Given the description of an element on the screen output the (x, y) to click on. 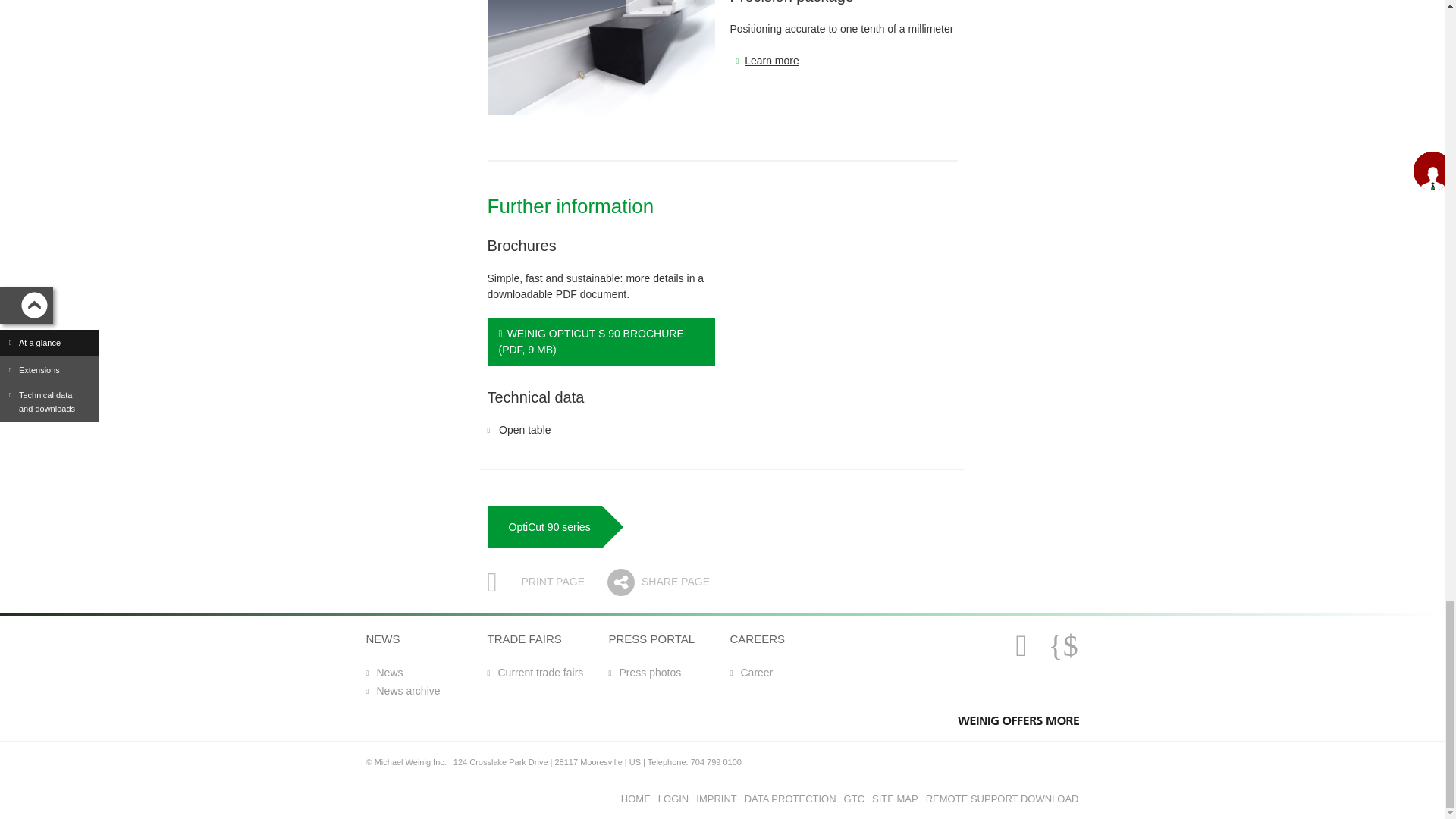
News (384, 672)
Press photos (644, 672)
Weinig offers more (1017, 720)
News archive (402, 691)
Career (751, 672)
Current trade fairs (534, 672)
